Given the description of an element on the screen output the (x, y) to click on. 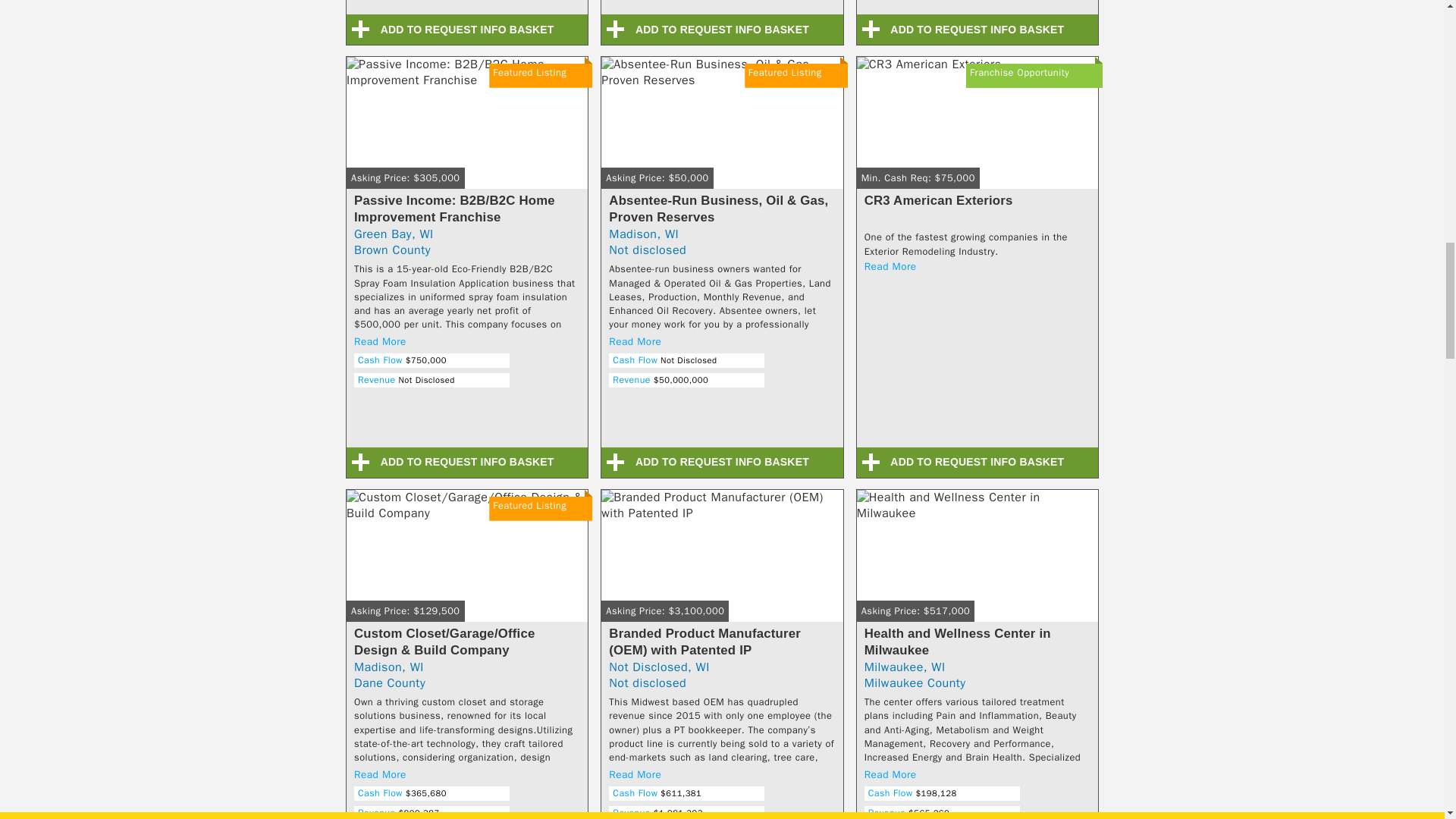
Health and Wellness Center in Milwaukee (977, 562)
CR3 American Exteriors (977, 129)
